Given the description of an element on the screen output the (x, y) to click on. 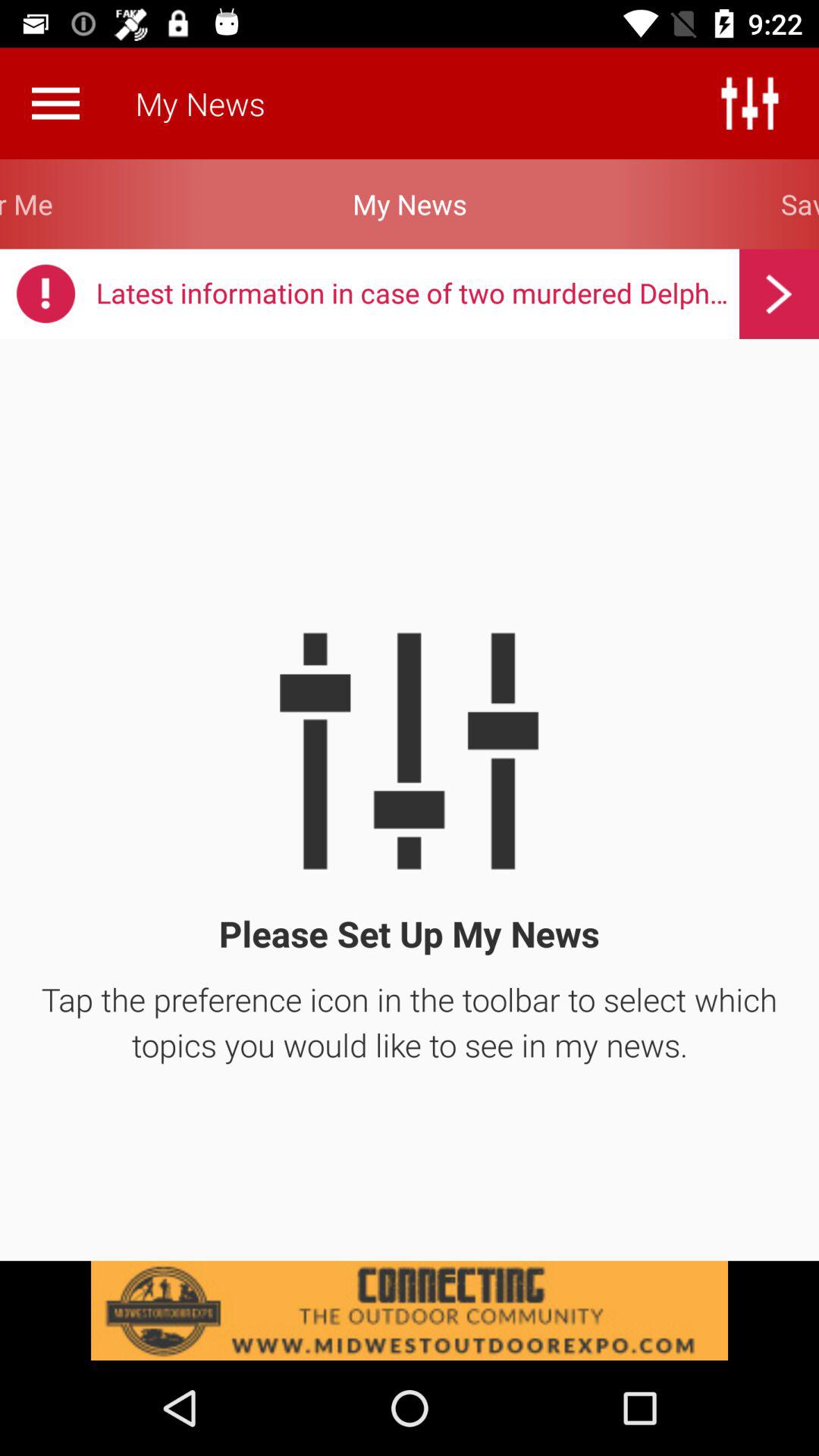
open the menu (55, 103)
